Given the description of an element on the screen output the (x, y) to click on. 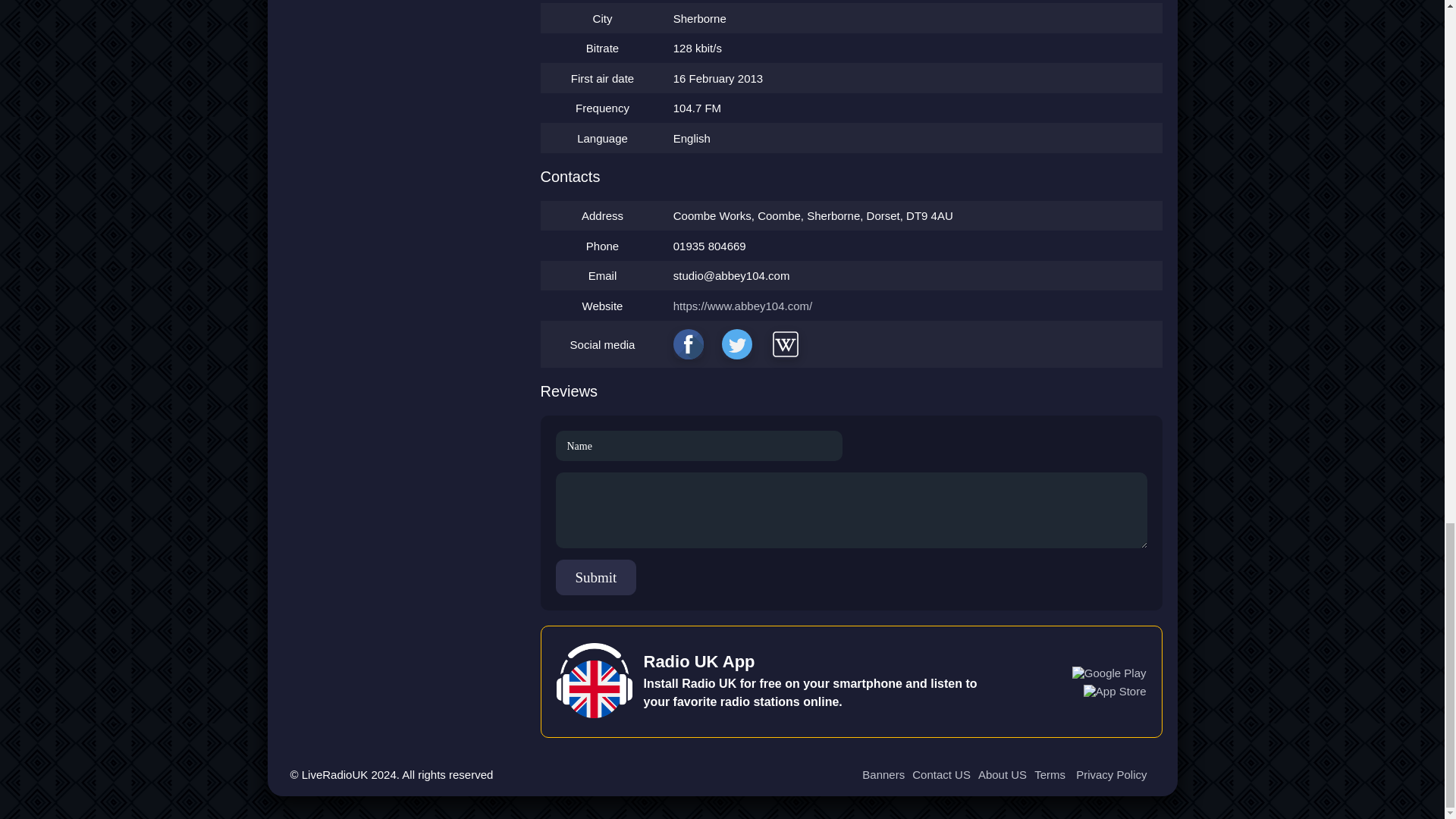
Google Play (1109, 672)
App Store (1115, 690)
Twitter (737, 344)
Wikipedia (785, 344)
Facebook (687, 344)
